Given the description of an element on the screen output the (x, y) to click on. 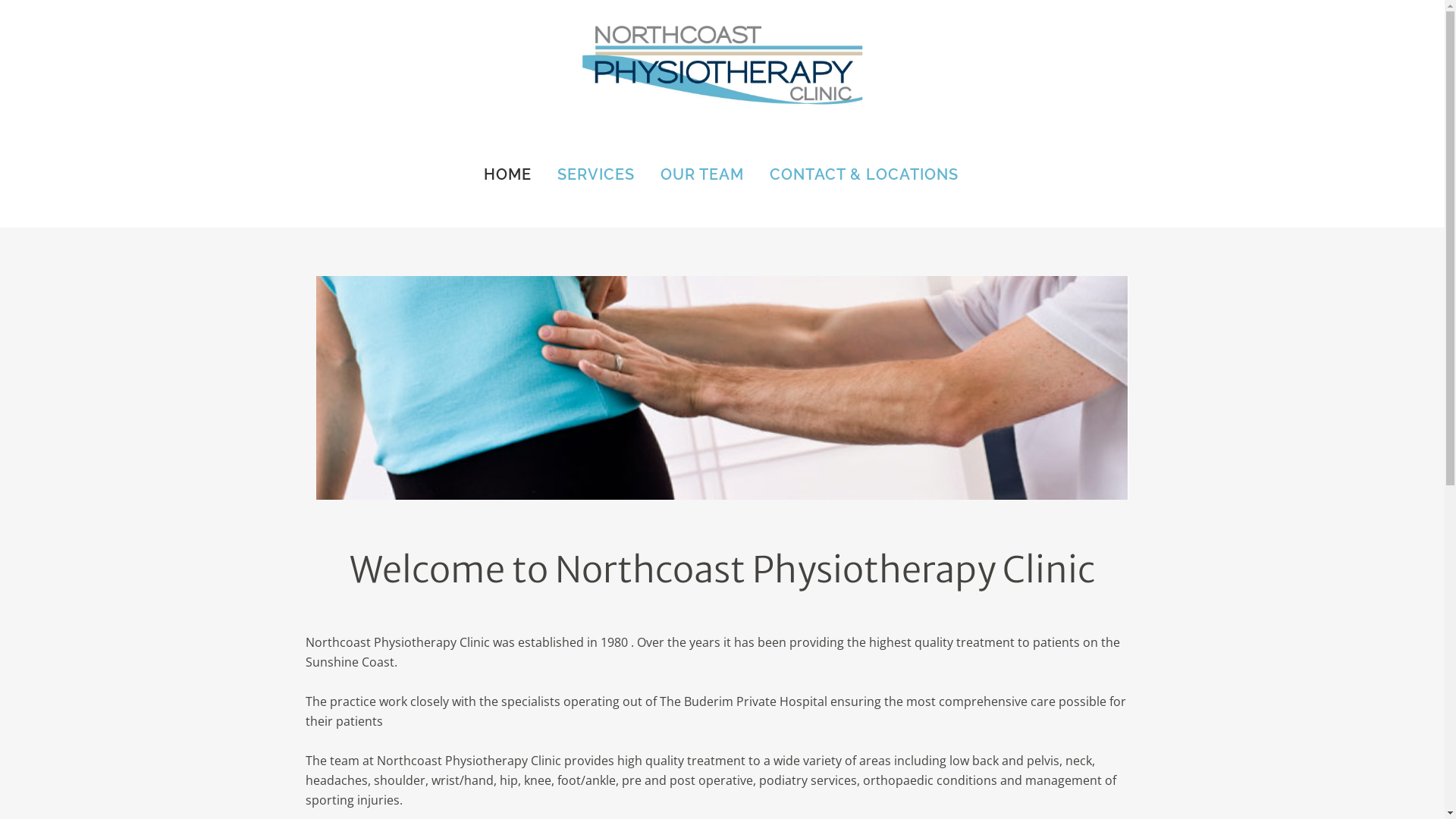
OUR TEAM Element type: text (701, 174)
SERVICES Element type: text (595, 174)
CONTACT & LOCATIONS Element type: text (863, 174)
HOME Element type: text (506, 174)
